Given the description of an element on the screen output the (x, y) to click on. 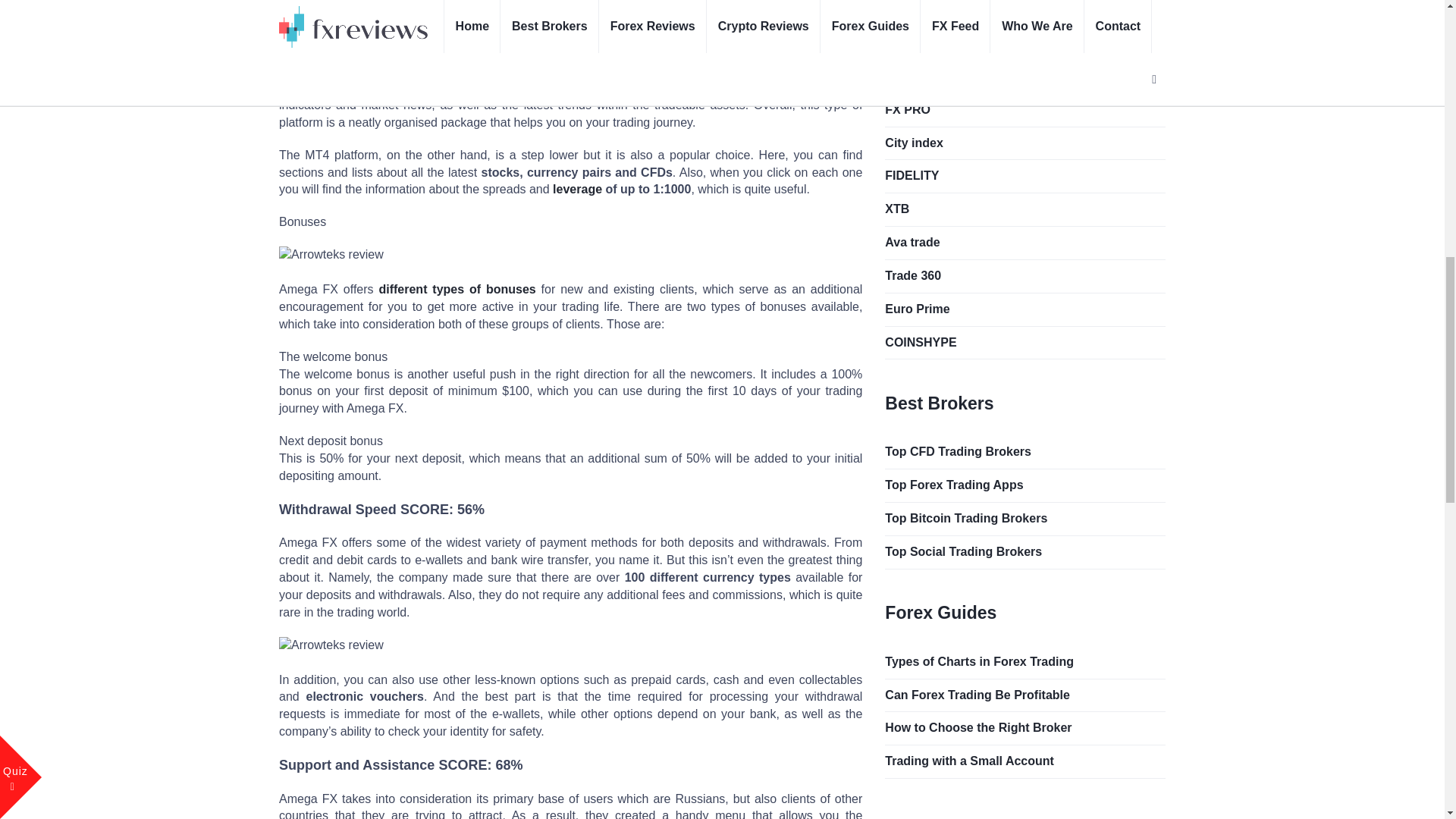
different types of bonuses (456, 288)
MT4 platform (699, 52)
SECUREDVC (1025, 9)
leverage (577, 188)
MT5 (629, 52)
